Given the description of an element on the screen output the (x, y) to click on. 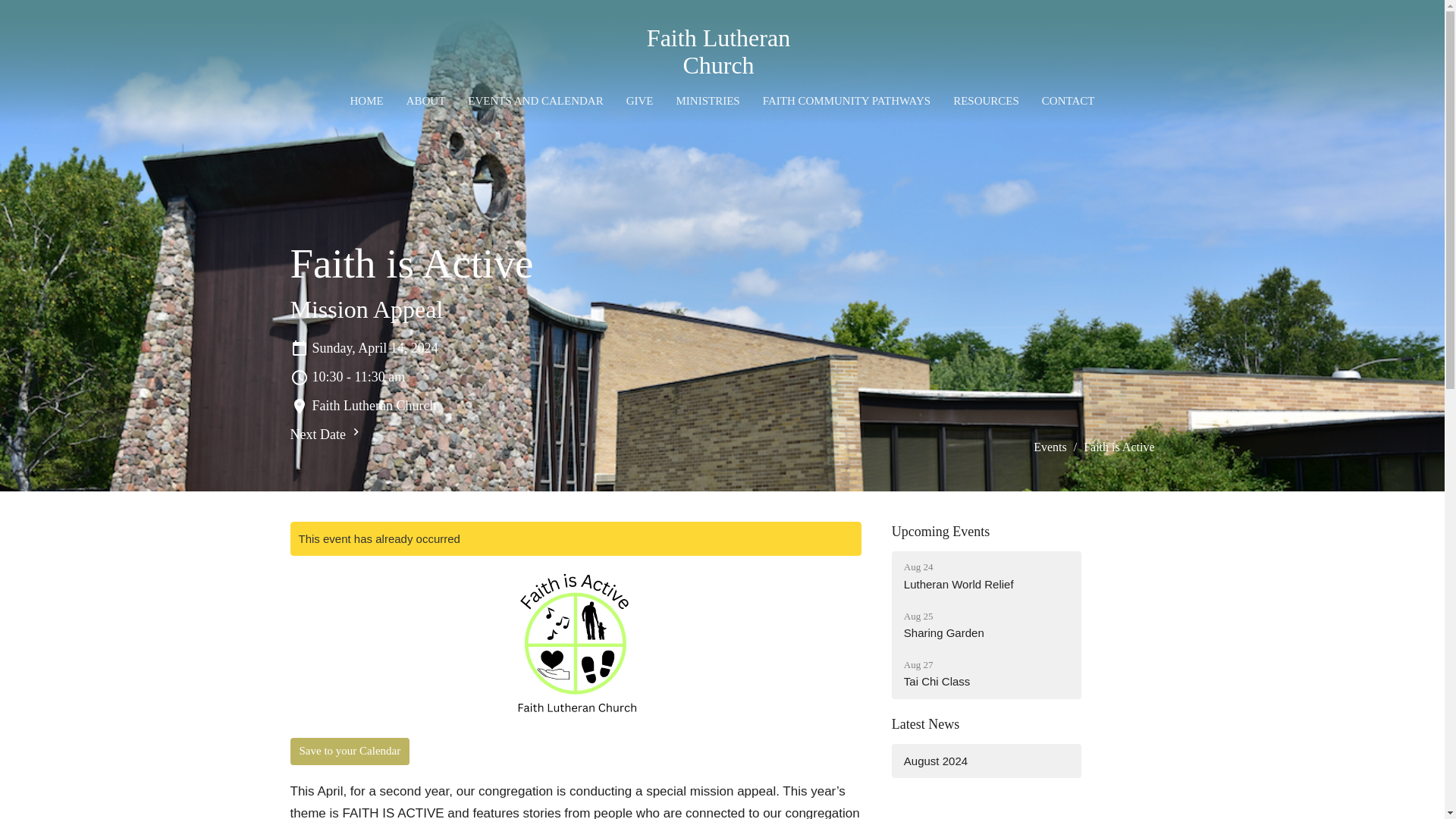
ABOUT (425, 100)
EVENTS AND CALENDAR (986, 625)
August 2024 (534, 100)
Next Date (986, 760)
Latest News (325, 434)
Faith Lutheran Church (925, 724)
CONTACT (986, 673)
HOME (722, 50)
